Given the description of an element on the screen output the (x, y) to click on. 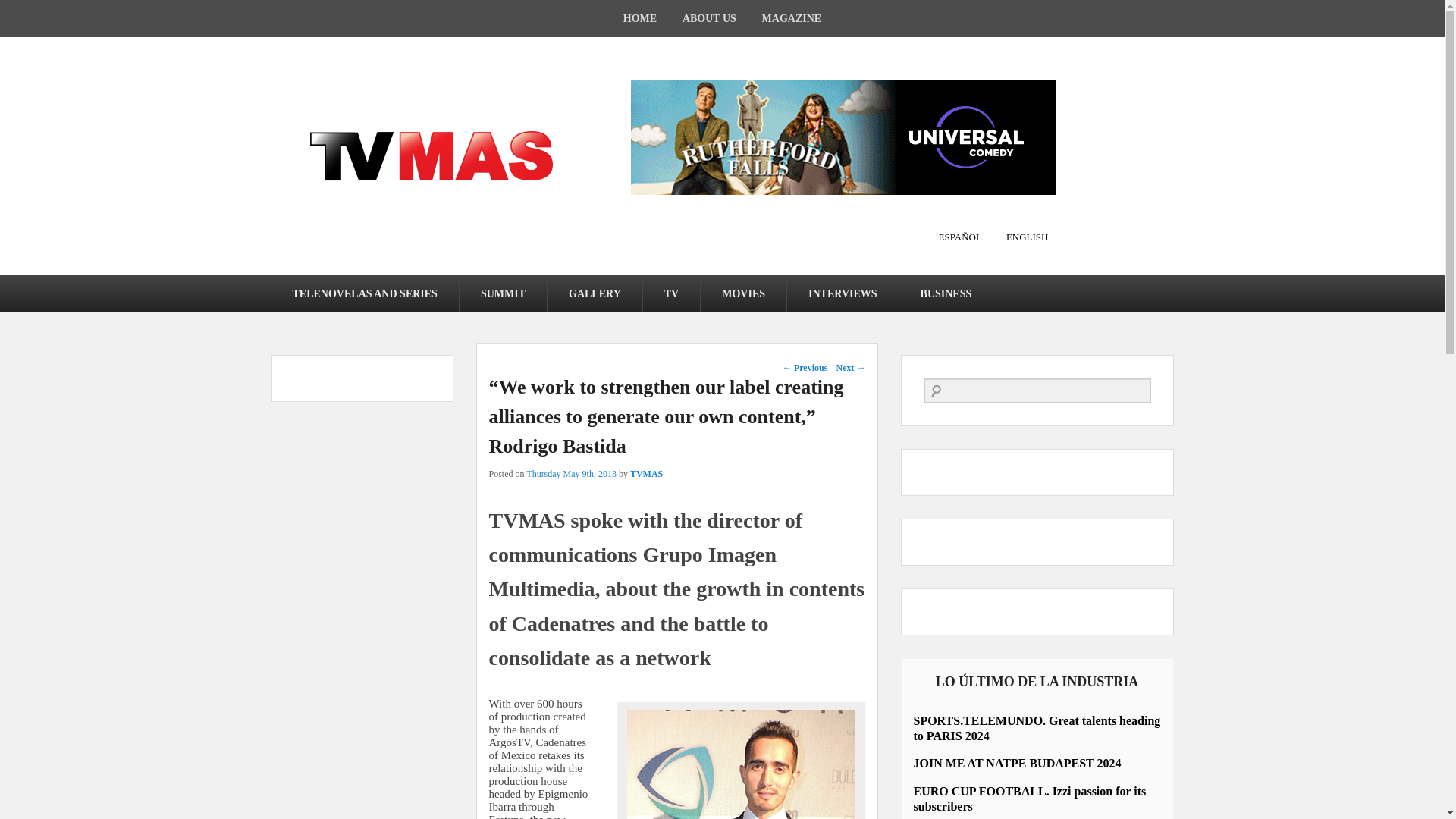
MAGAZINE (791, 18)
TVMAS Magazine (431, 155)
SUMMIT (503, 293)
TELENOVELAS AND SERIES (364, 293)
Skip to primary content (58, 284)
ENGLISH (1019, 236)
Rodrigo-bastidas-300 (741, 764)
Skip to secondary content (62, 284)
Skip to secondary content (62, 284)
GALLERY (594, 293)
